Given the description of an element on the screen output the (x, y) to click on. 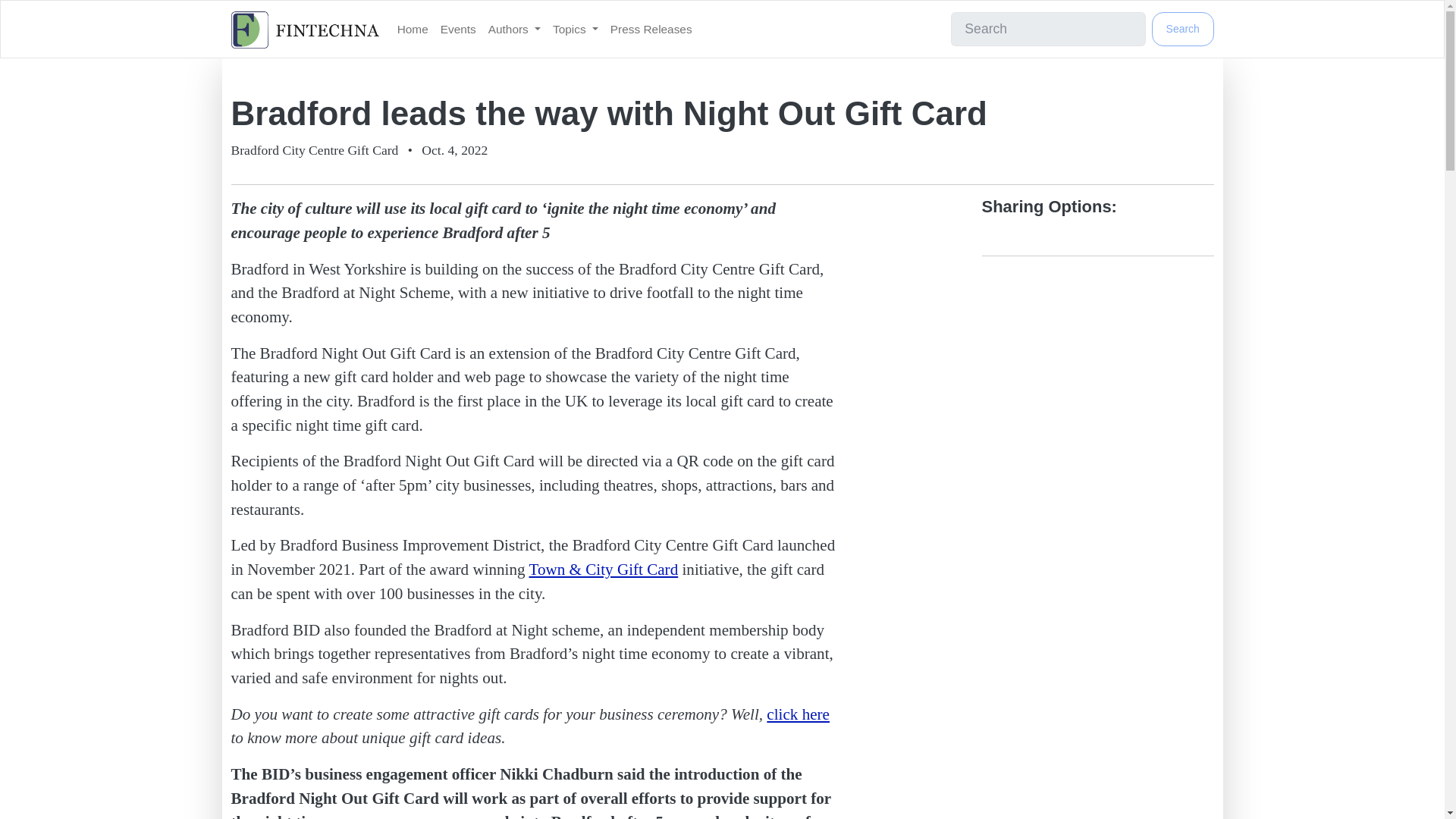
Authors (514, 29)
Events (457, 29)
Home (412, 29)
